Given the description of an element on the screen output the (x, y) to click on. 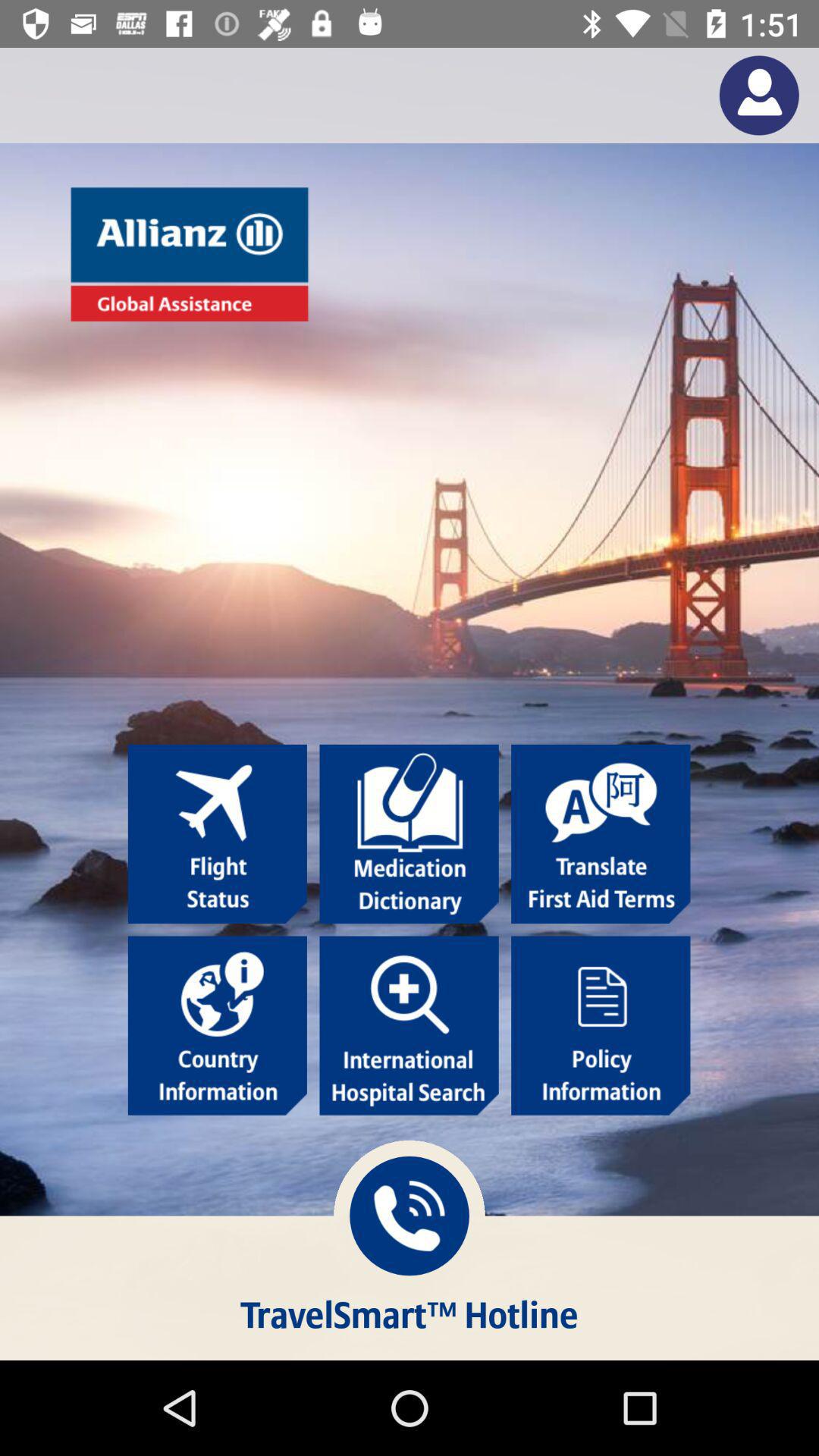
policy information icon and button (600, 1025)
